Given the description of an element on the screen output the (x, y) to click on. 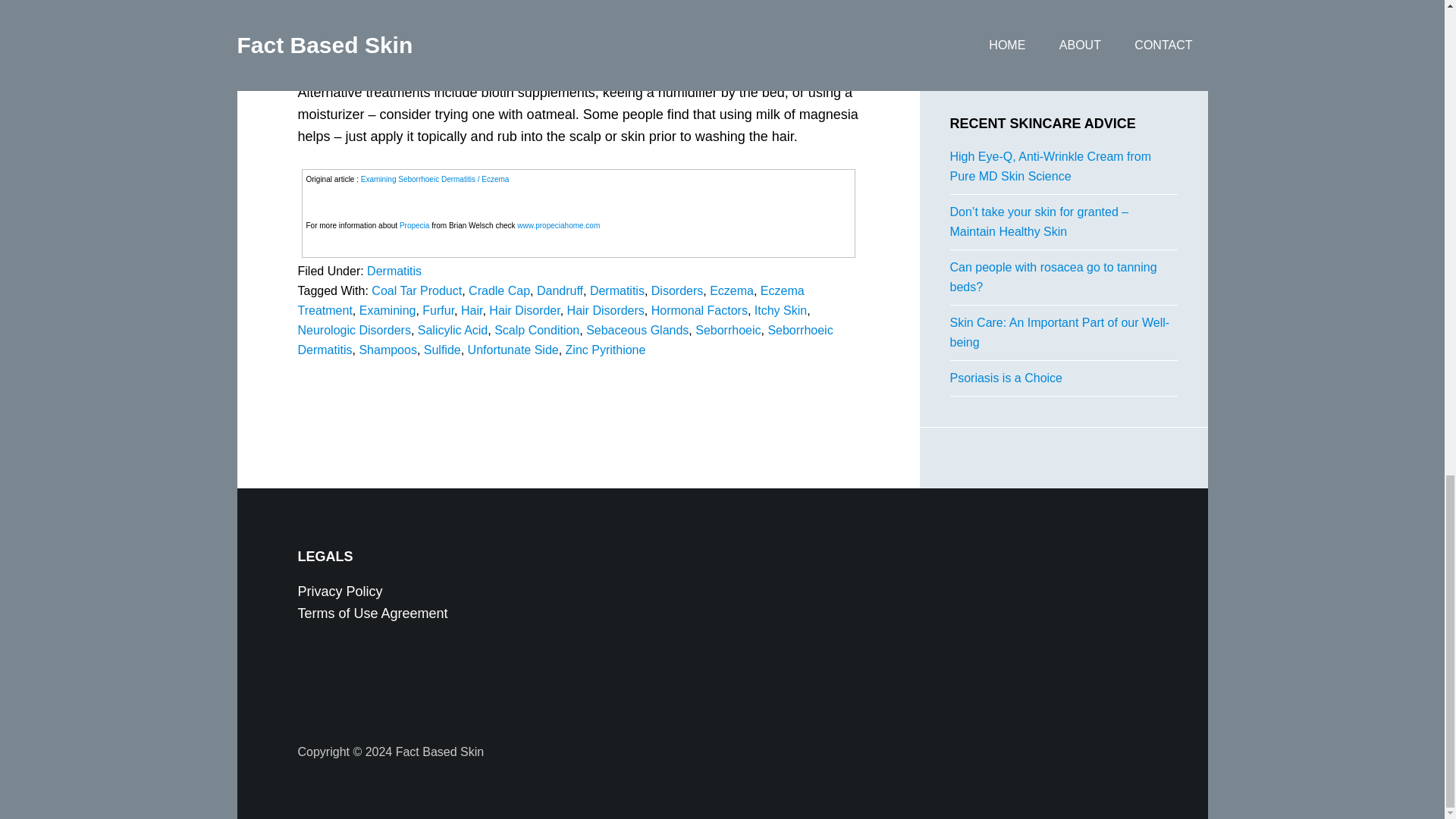
Dandruff (560, 290)
Seborrhoeic Dermatitis (564, 339)
Eczema (732, 290)
Dermatitis (394, 270)
Examining (387, 309)
Hair Disorder (524, 309)
Coal Tar Product (416, 290)
Dermatitis (617, 290)
Cradle Cap (498, 290)
Disorders (676, 290)
Sebaceous Glands (637, 329)
Seborrhoeic (727, 329)
Furfur (438, 309)
Itchy Skin (780, 309)
Hormonal Factors (699, 309)
